Given the description of an element on the screen output the (x, y) to click on. 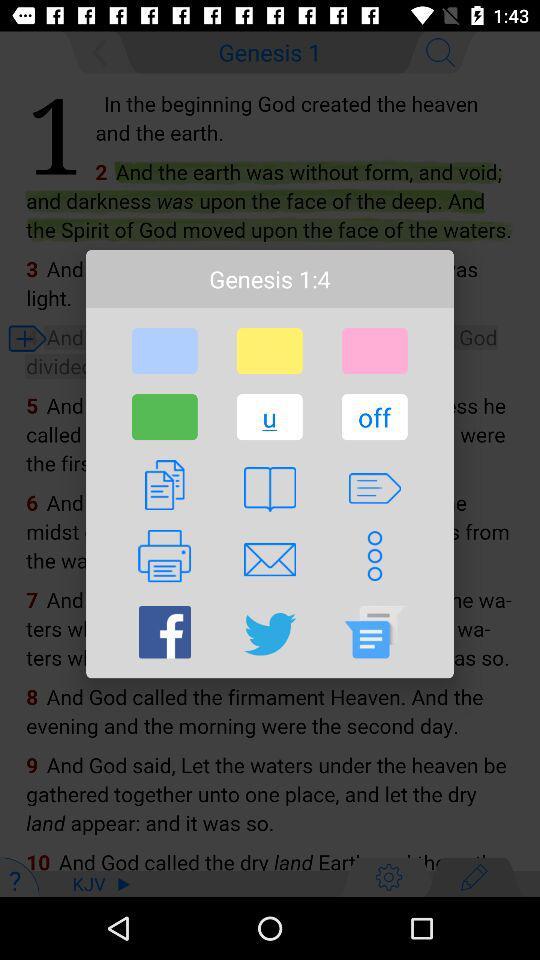
turn on the off (374, 417)
